Given the description of an element on the screen output the (x, y) to click on. 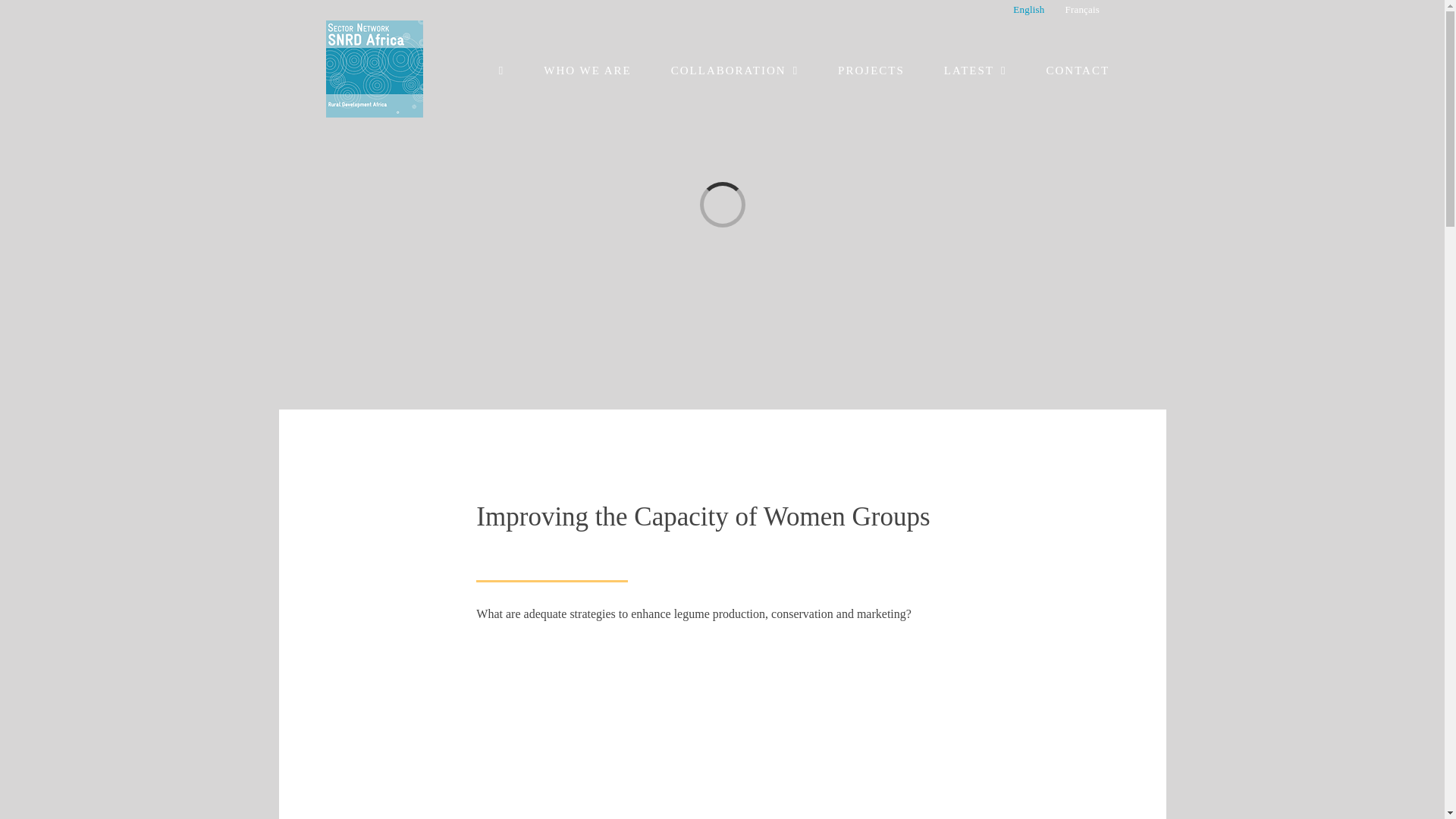
WHO WE ARE (587, 70)
LATEST (975, 70)
Bildschirmfoto 2021-05-04 um 15.38.55 (722, 744)
Page 5 (722, 614)
COLLABORATION (734, 70)
PROJECTS (871, 70)
Page 5 (722, 516)
English (1028, 9)
CONTACT (1077, 70)
